Given the description of an element on the screen output the (x, y) to click on. 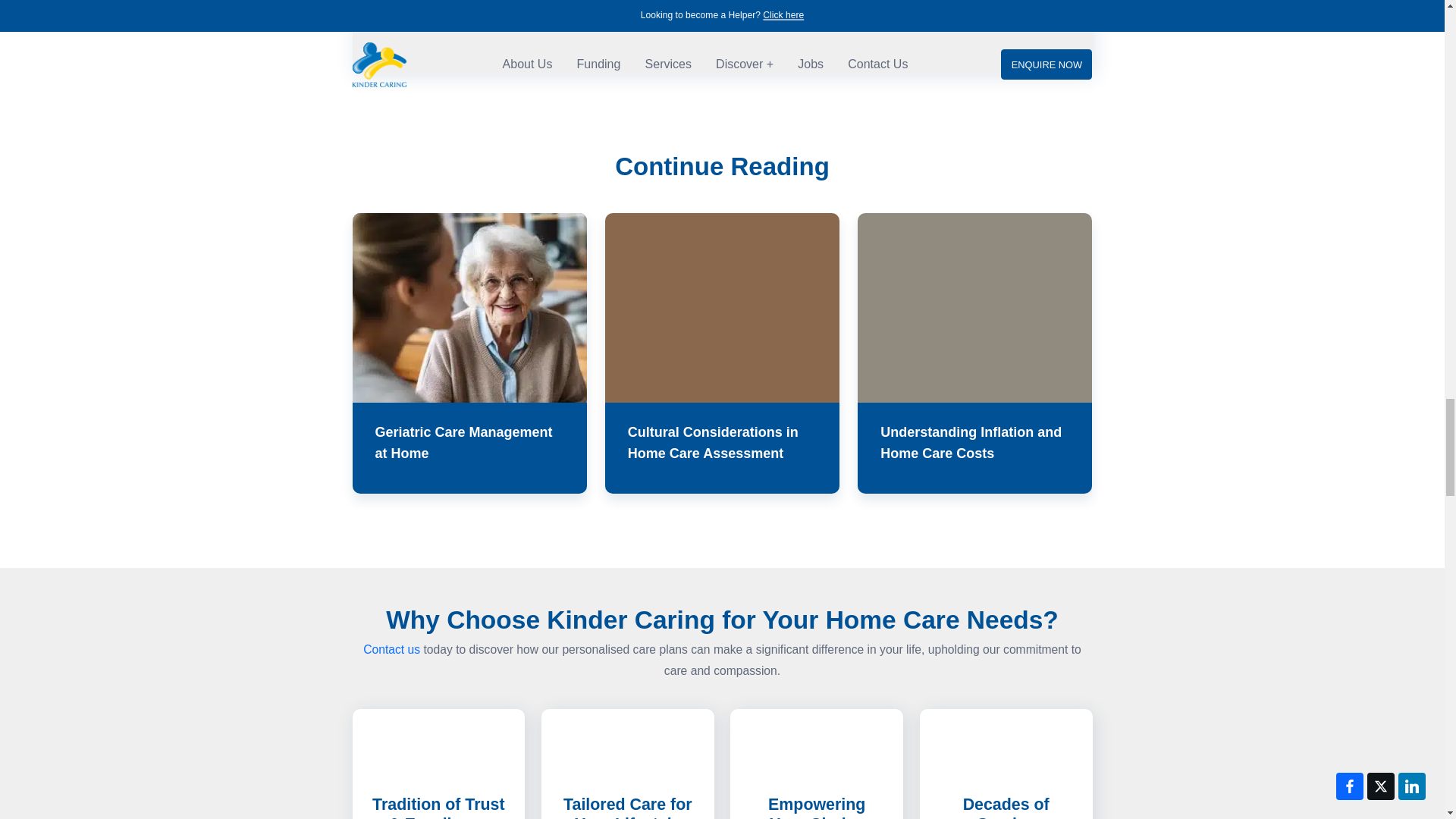
Cultural Considerations in Home Care Assessment (722, 352)
read more (793, 5)
Geriatric Care Management at Home (469, 352)
Understanding Inflation and Home Care Costs (974, 352)
Understanding Inflation and Home Care Costs 3 (974, 307)
Contact us (391, 649)
Cultural Considerations in Home Care Assessment 2 (722, 307)
Geriatric Care Management at Home 1 (469, 307)
